Given the description of an element on the screen output the (x, y) to click on. 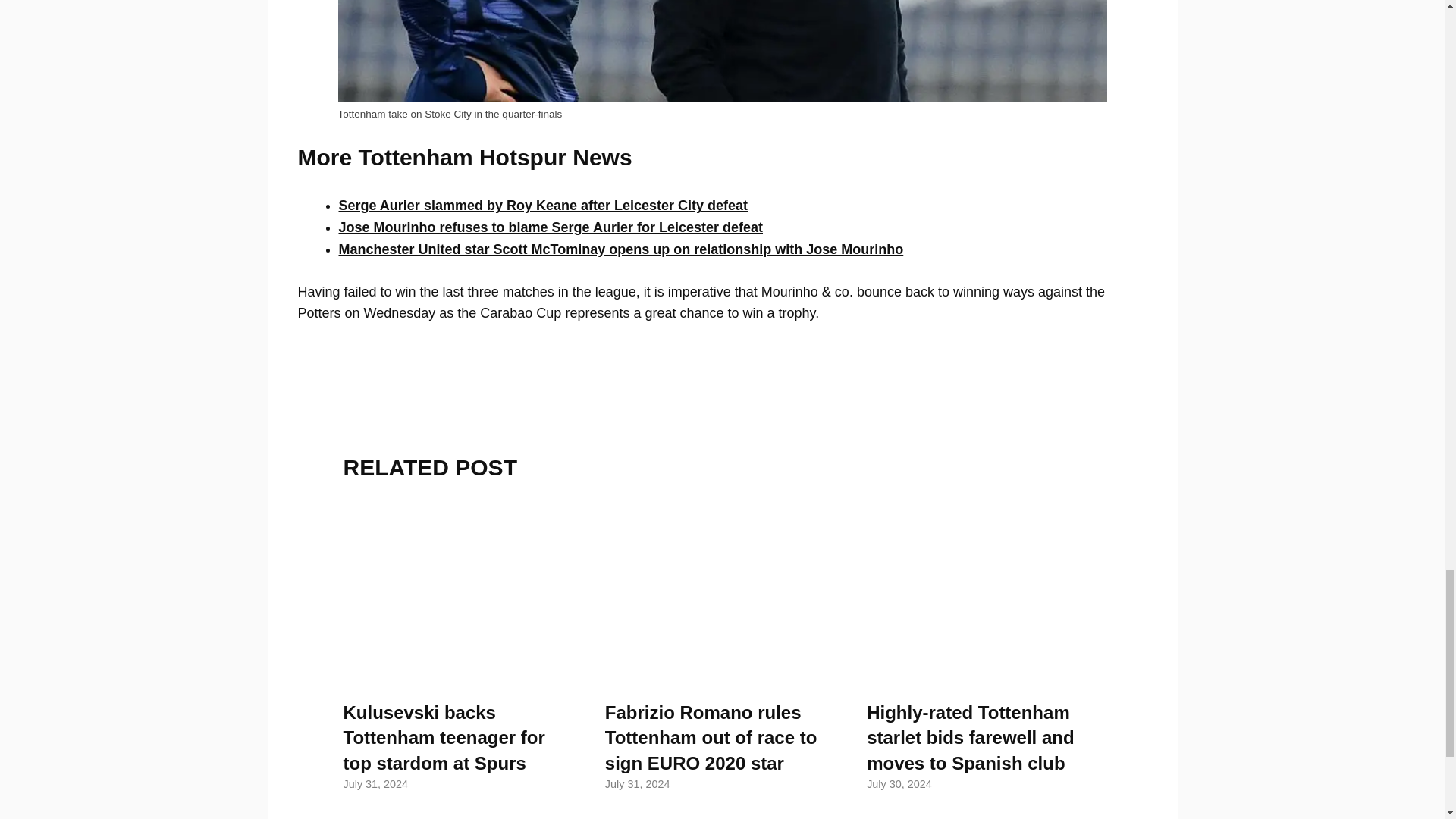
11:00 pm (898, 784)
1:00 am (374, 784)
Kulusevski backs Tottenham teenager for top stardom at Spurs (459, 674)
12:00 am (637, 784)
